Given the description of an element on the screen output the (x, y) to click on. 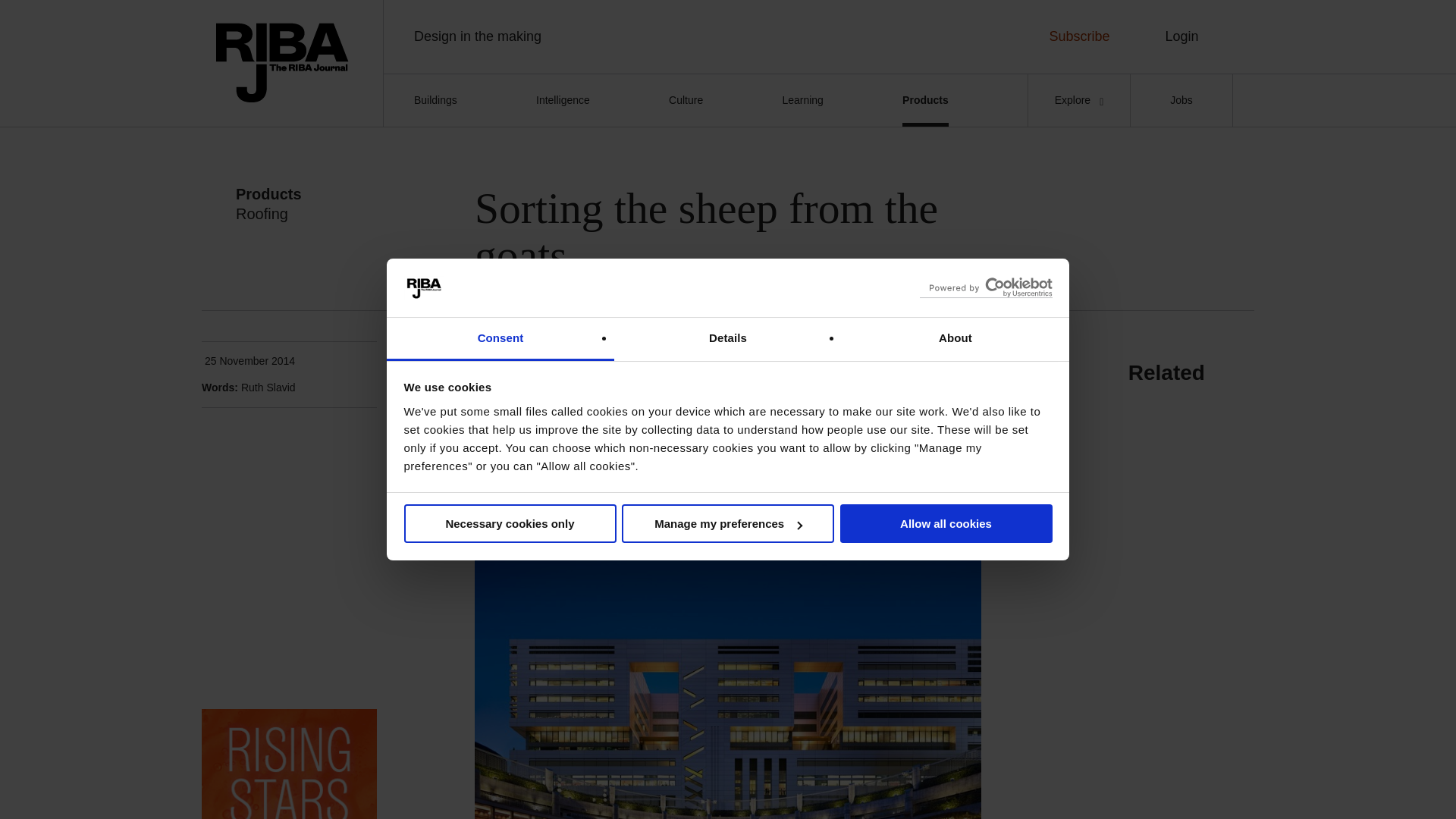
Consent (500, 339)
Details (727, 339)
About (954, 339)
